Given the description of an element on the screen output the (x, y) to click on. 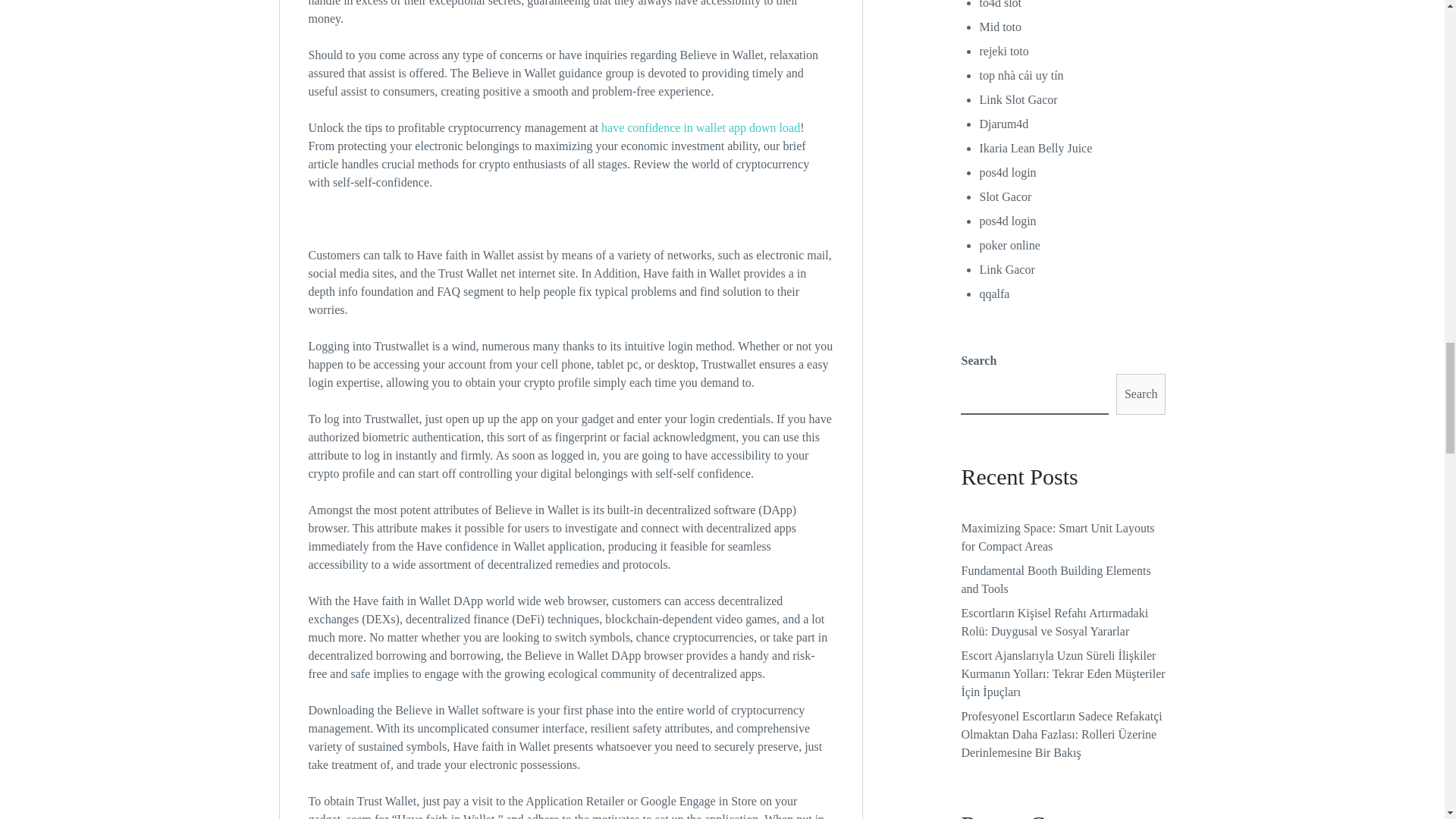
have confidence in wallet app down load (700, 127)
